Given the description of an element on the screen output the (x, y) to click on. 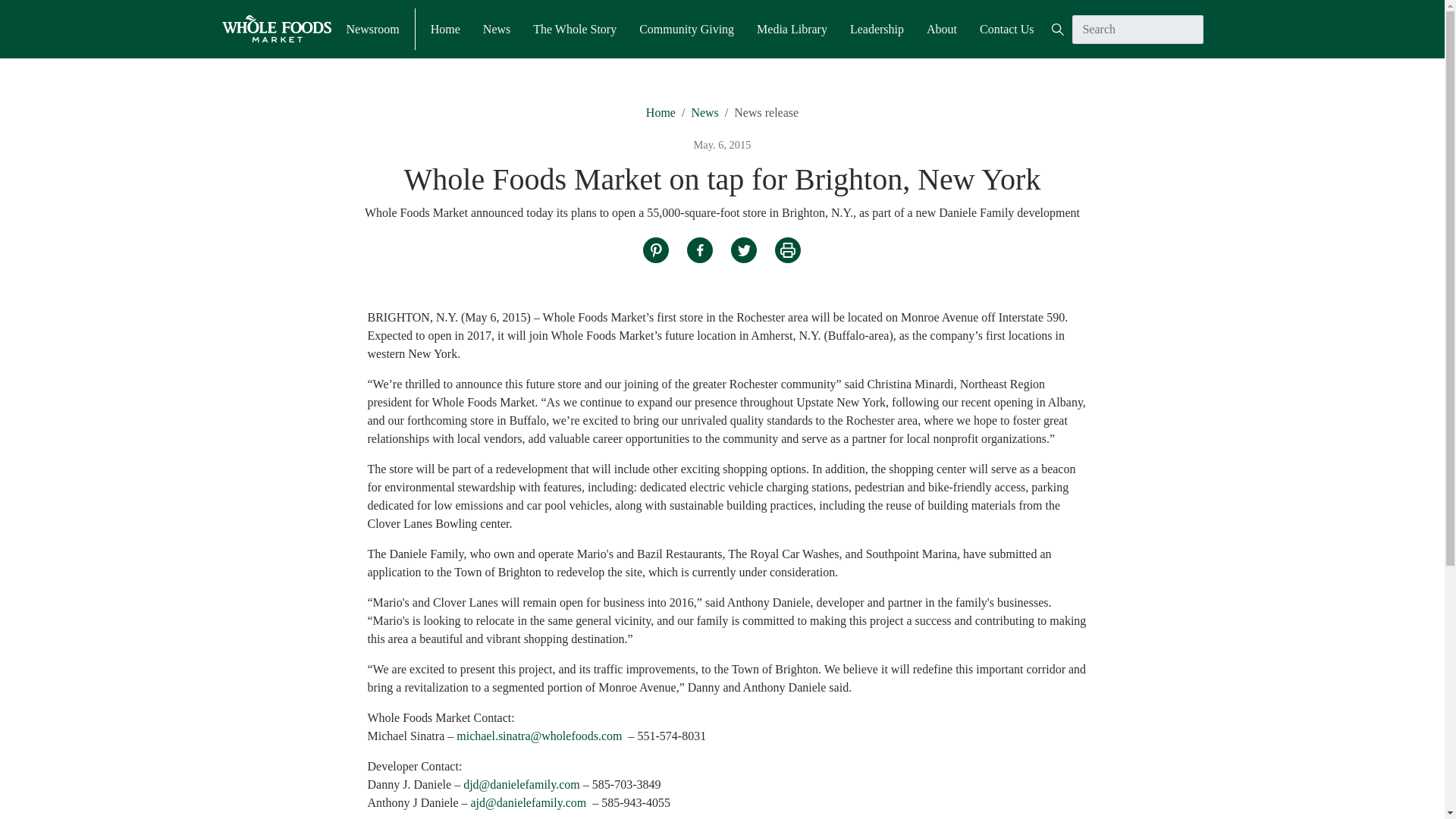
Home (445, 28)
Contact Us (1006, 28)
Leadership (877, 28)
Whole Foods Market (275, 29)
News (497, 28)
About (941, 28)
Community Giving (686, 28)
Home (660, 112)
The Whole Story (573, 28)
Media Library (792, 28)
News (703, 112)
